Given the description of an element on the screen output the (x, y) to click on. 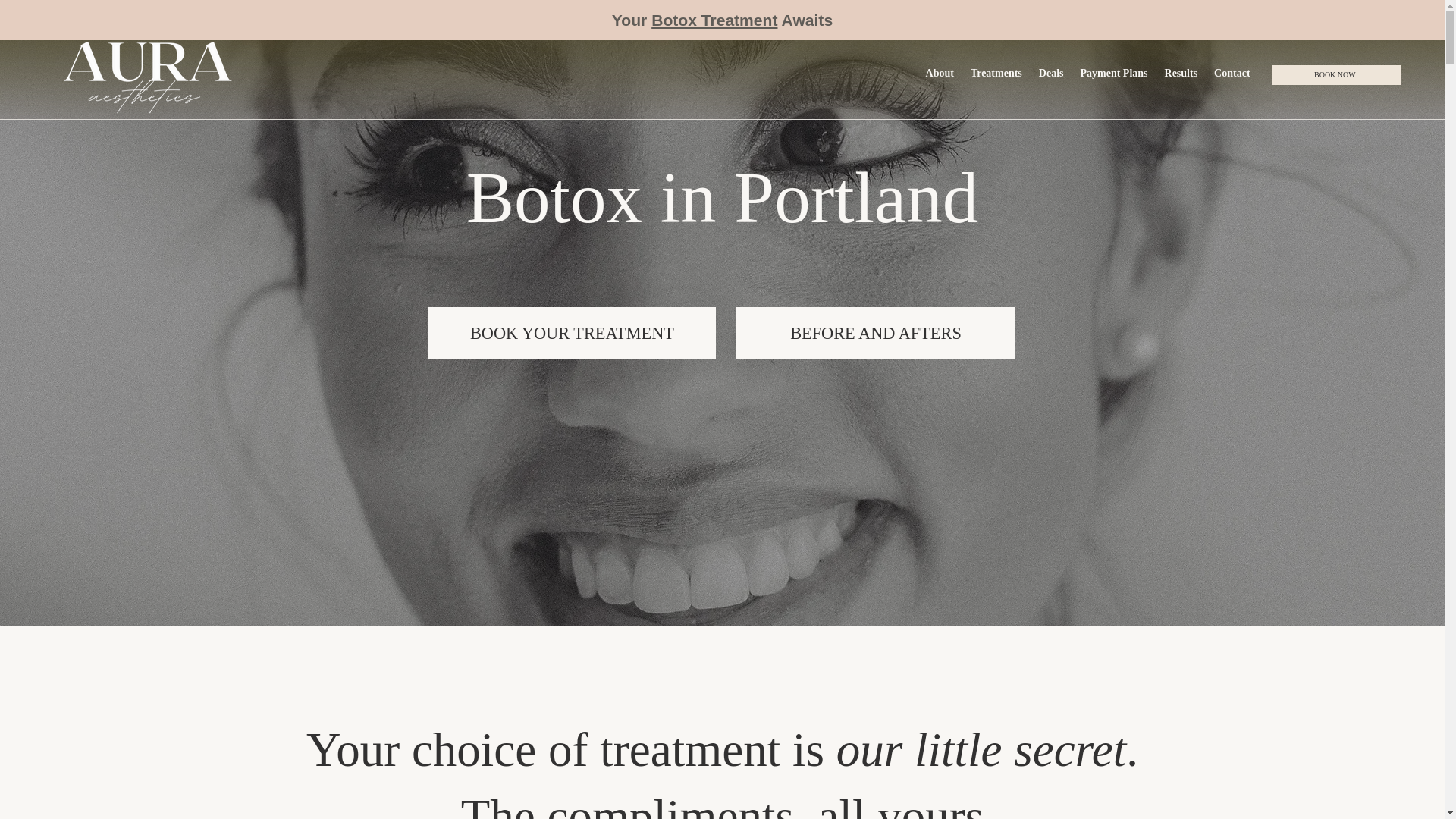
Contact (1231, 72)
Results (1181, 72)
Botox Treatment (713, 19)
Payment Plans (1113, 72)
BOOK NOW (1336, 75)
Treatments (996, 72)
About (939, 72)
BOOK YOUR TREATMENT (572, 332)
BEFORE AND AFTERS (877, 72)
